Given the description of an element on the screen output the (x, y) to click on. 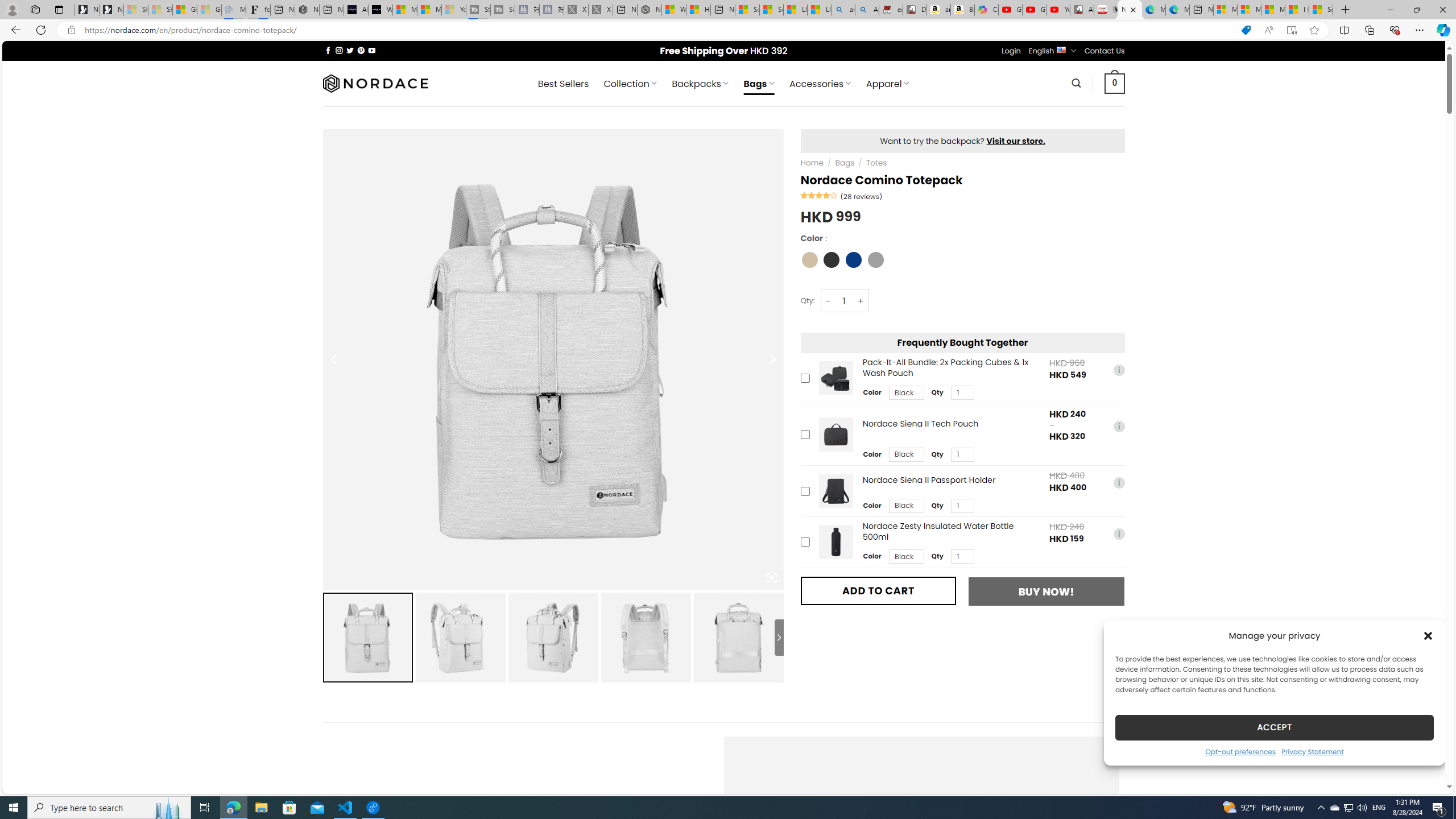
Gloom - YouTube (1034, 9)
Opt-out preferences (1240, 750)
Follow on YouTube (371, 49)
Contact Us (1104, 50)
Login (1010, 50)
